Given the description of an element on the screen output the (x, y) to click on. 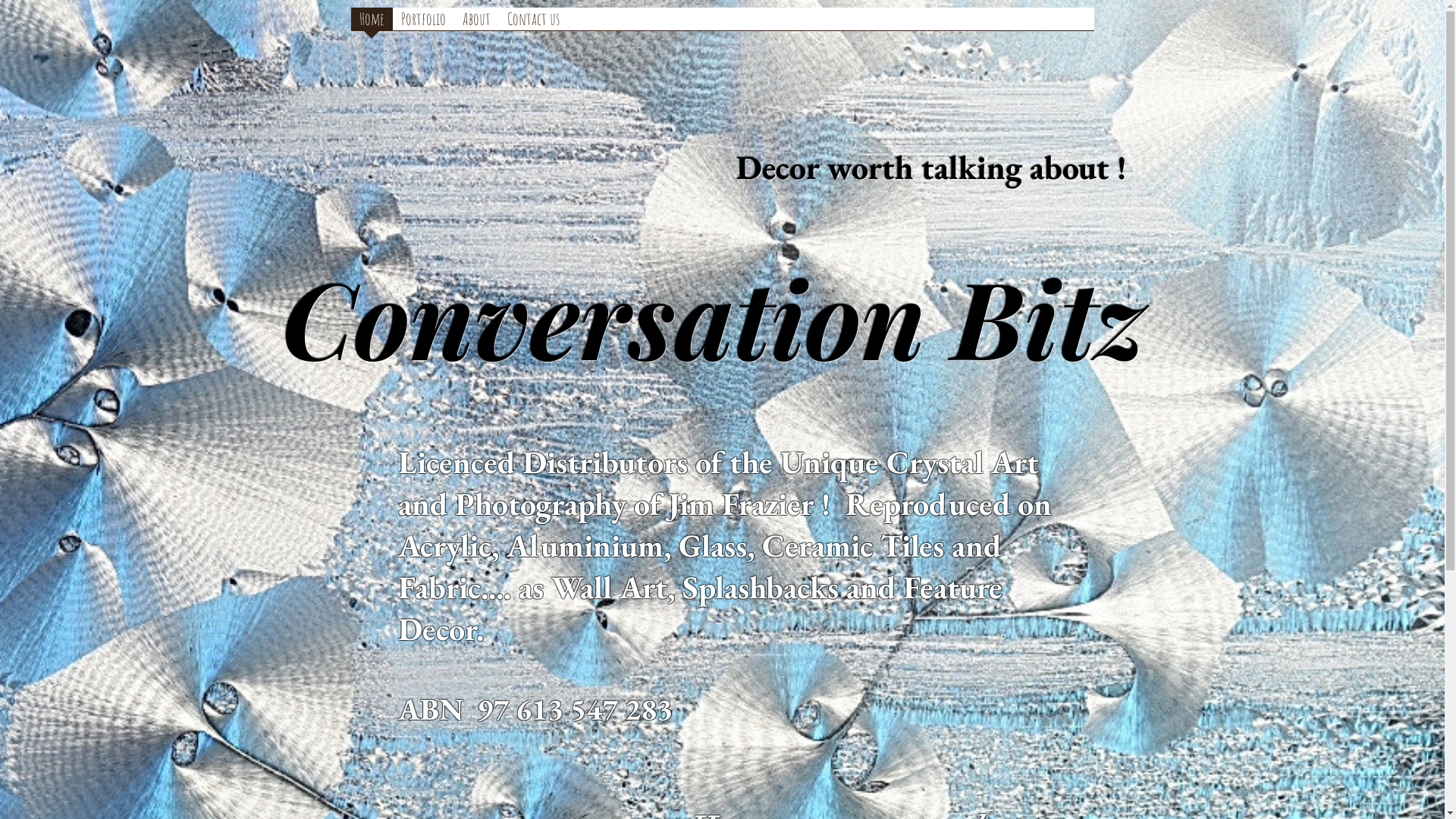
About Element type: text (475, 19)
Home Element type: text (371, 19)
Home Element type: text (371, 23)
Contact us Element type: text (532, 19)
Portfolio Element type: text (423, 19)
Portfolio Element type: text (423, 23)
About Element type: text (475, 23)
Contact us Element type: text (532, 23)
